Given the description of an element on the screen output the (x, y) to click on. 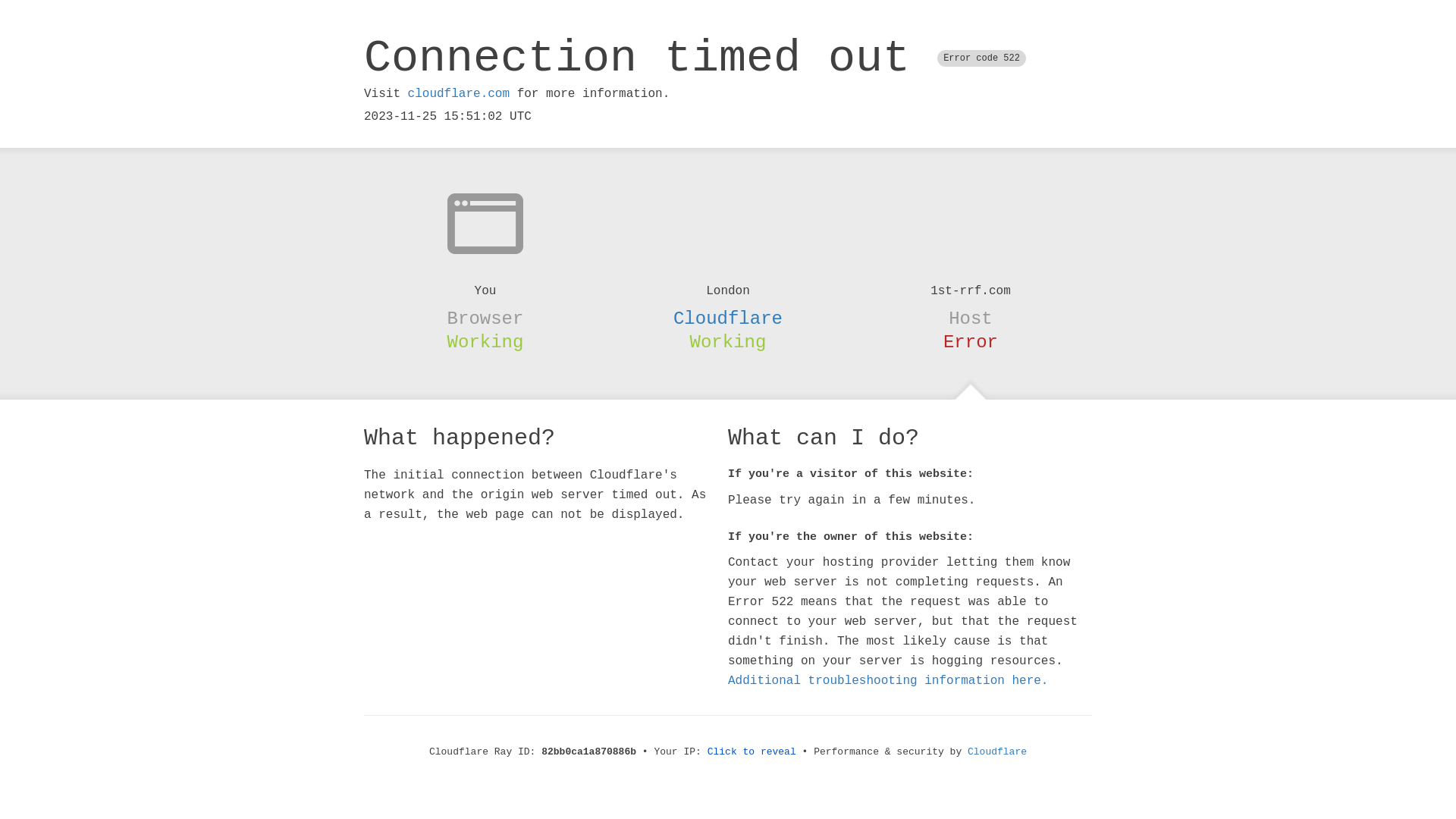
Additional troubleshooting information here. Element type: text (888, 680)
Click to reveal Element type: text (751, 751)
cloudflare.com Element type: text (458, 93)
Cloudflare Element type: text (996, 751)
Cloudflare Element type: text (727, 318)
